Given the description of an element on the screen output the (x, y) to click on. 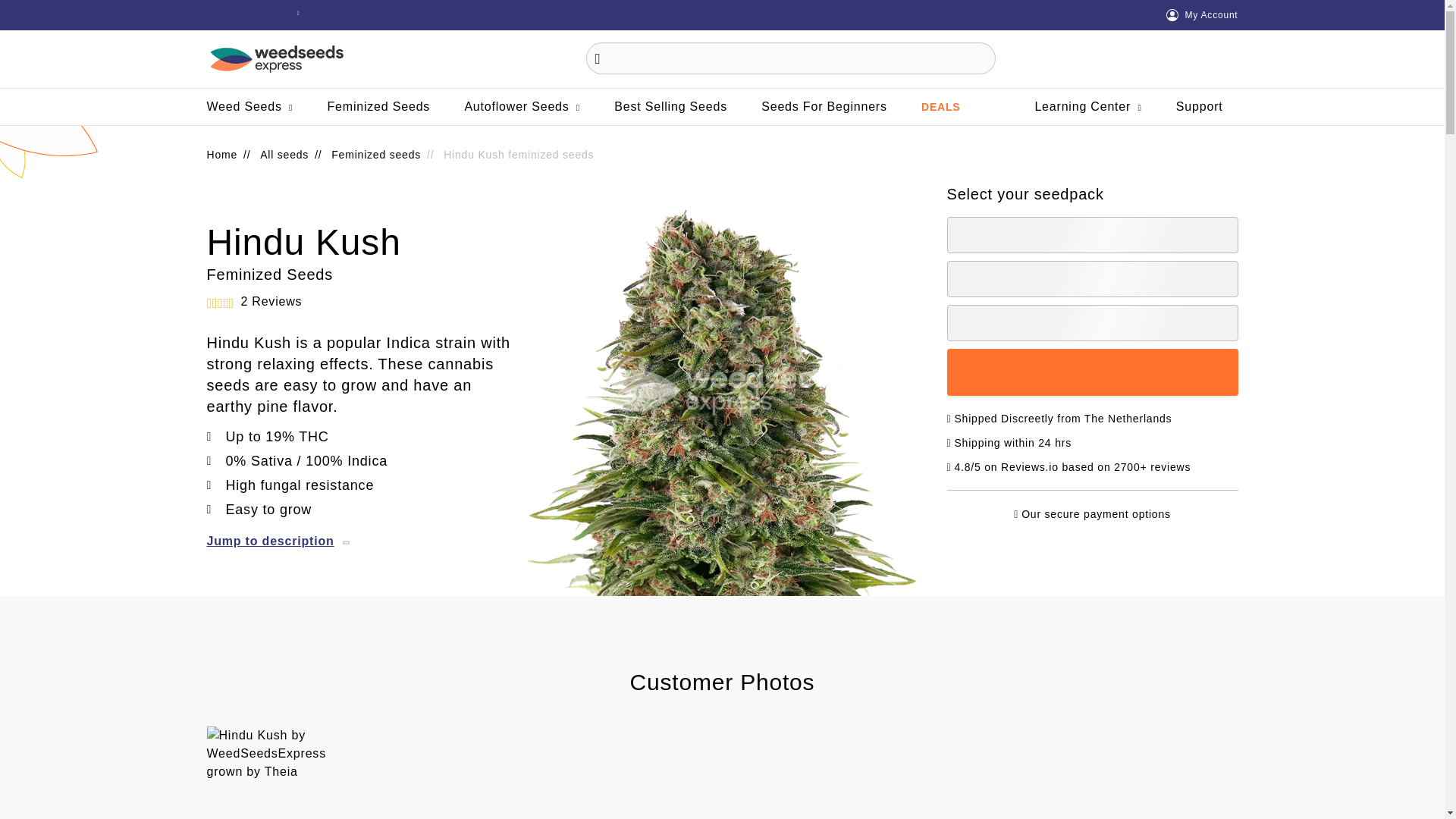
Weed Seeds (248, 106)
